Given the description of an element on the screen output the (x, y) to click on. 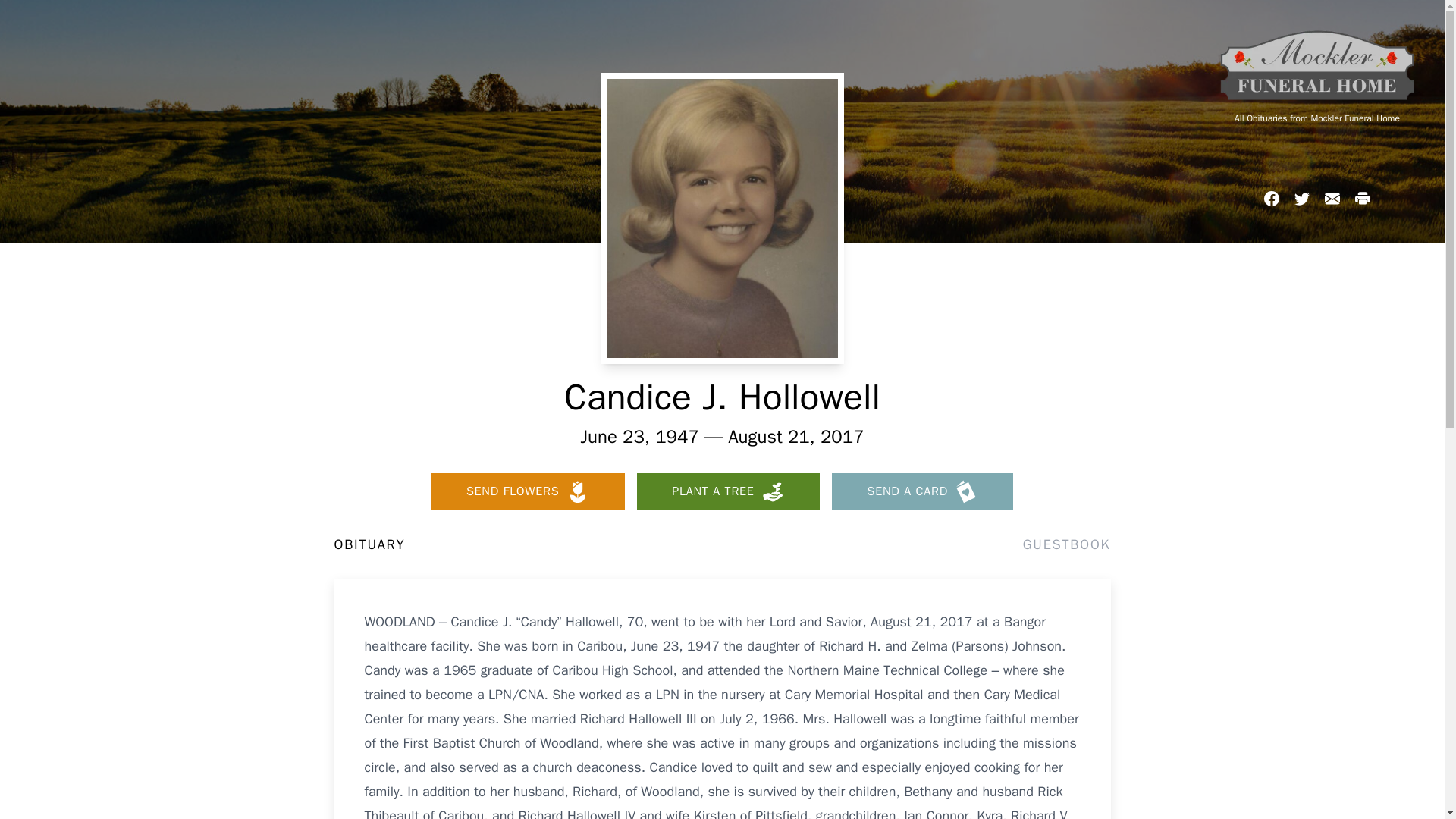
SEND A CARD (922, 491)
PLANT A TREE (728, 491)
SEND FLOWERS (527, 491)
All Obituaries from Mockler Funeral Home (1316, 118)
GUESTBOOK (1066, 544)
OBITUARY (368, 544)
